Given the description of an element on the screen output the (x, y) to click on. 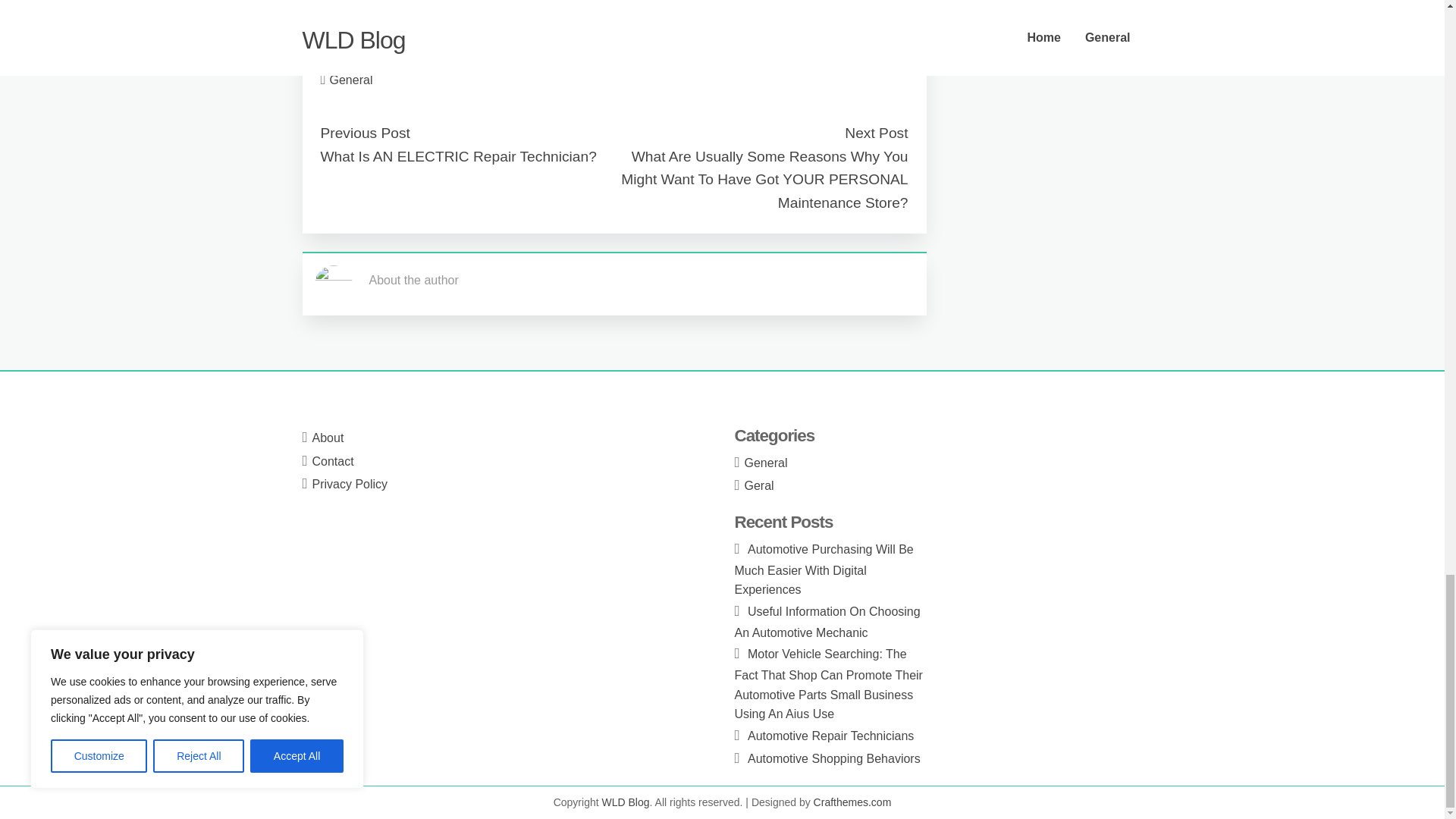
General (351, 79)
What Is AN ELECTRIC Repair Technician? (457, 156)
About (328, 437)
Geral (759, 485)
Previous Post (364, 132)
Contact (333, 461)
Next Post (875, 132)
Privacy Policy (350, 483)
General (765, 462)
